Given the description of an element on the screen output the (x, y) to click on. 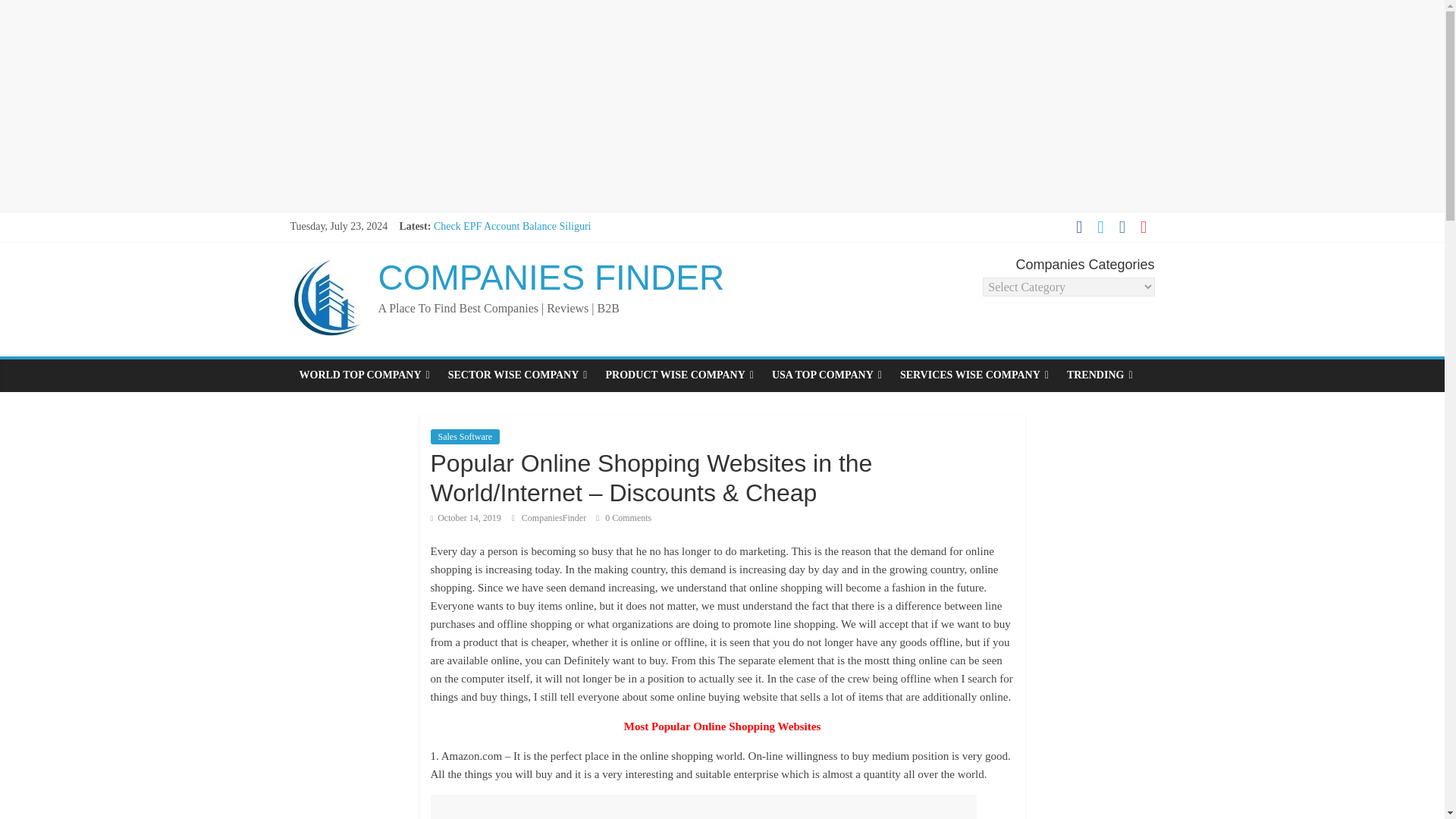
CHECK EPF ACCOUNT BALANCE SIDDIPET (539, 242)
CompaniesFinder (554, 517)
Advertisement (703, 806)
Check EPF Account Balance Shillong (514, 294)
CHECK EPF ACCOUNT BALANCE SHIMOGA (541, 260)
Check EPF Account Balance Shimla (511, 276)
USA TOP COMPANY (826, 375)
COMPANIES FINDER (550, 277)
7:12 am (465, 517)
WORLD TOP COMPANY (363, 375)
PRODUCT WISE COMPANY (678, 375)
COMPANIES FINDER (550, 277)
CHECK EPF ACCOUNT BALANCE SHIMOGA (541, 260)
Check EPF Account Balance Siliguri (512, 225)
